Given the description of an element on the screen output the (x, y) to click on. 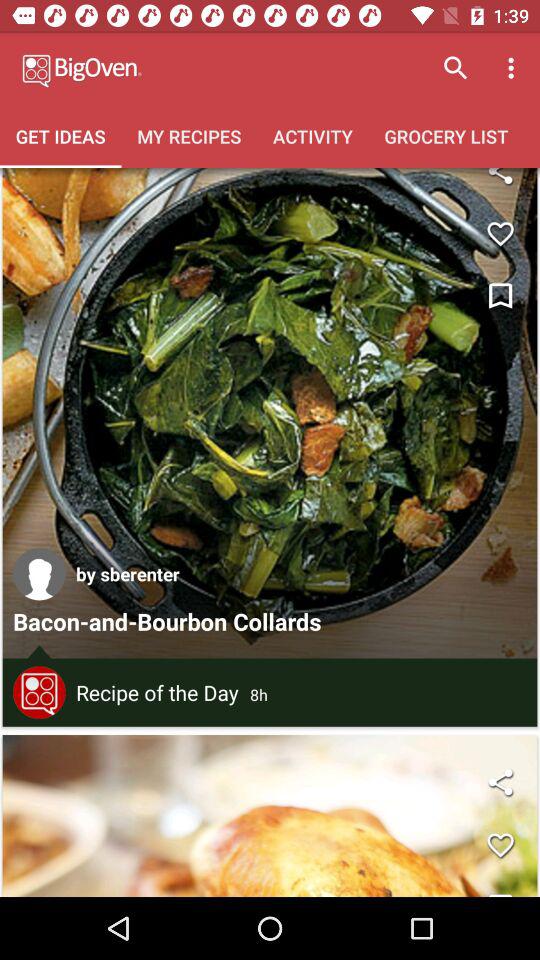
add to favourite (500, 845)
